Given the description of an element on the screen output the (x, y) to click on. 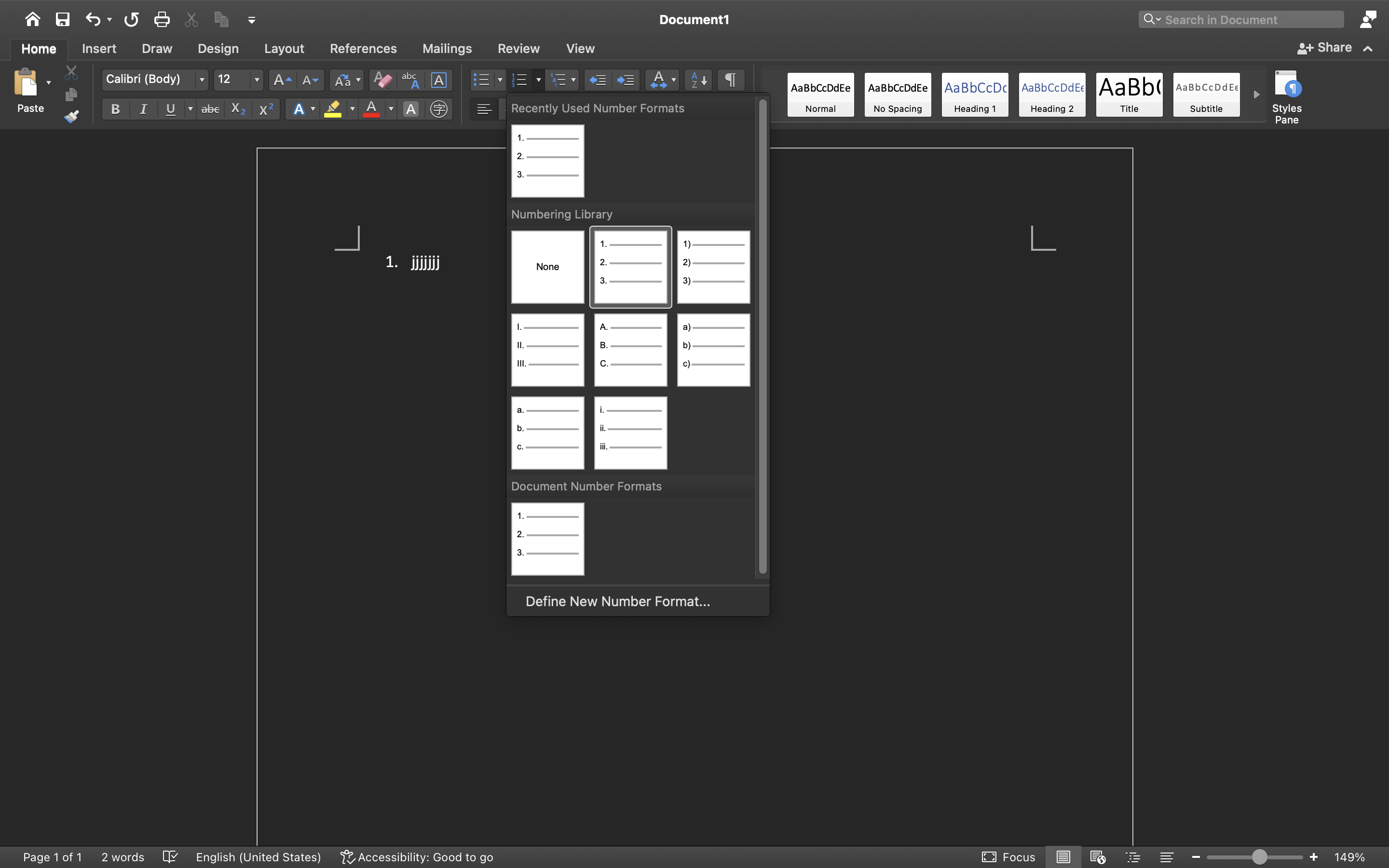
12 Element type: AXComboBox (238, 79)
1123.0 Element type: AXSlider (1254, 856)
Calibri (Body) Element type: AXComboBox (155, 79)
1 Element type: AXRadioButton (630, 266)
